Given the description of an element on the screen output the (x, y) to click on. 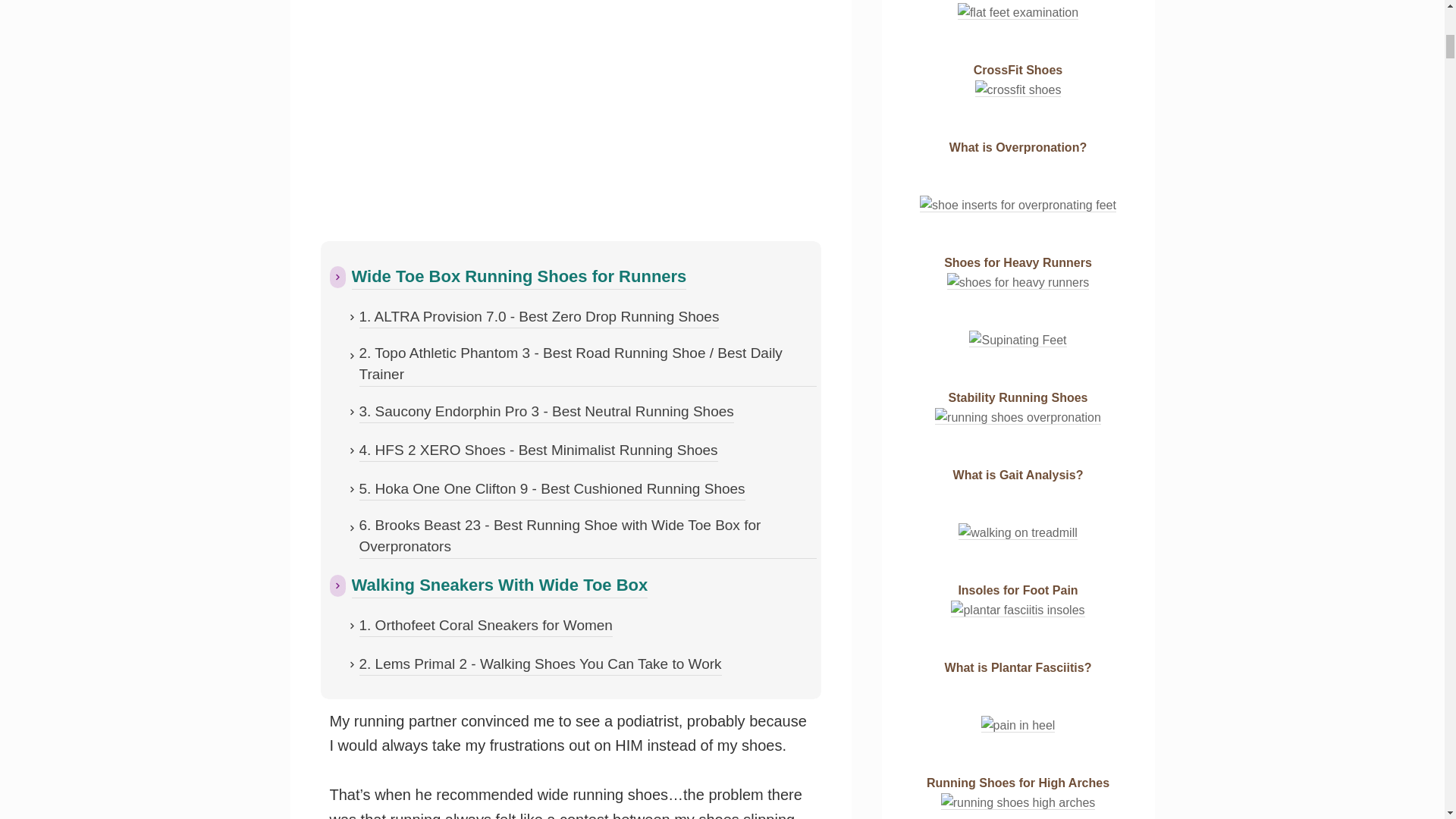
5. Hoka One One Clifton 9 - Best Cushioned Running Shoes (552, 489)
3. Saucony Endorphin Pro 3 - Best Neutral Running Shoes (546, 412)
Walking Sneakers With Wide Toe Box (499, 585)
1. Orthofeet Coral Sneakers for Women (485, 626)
Wide Toe Box Running Shoes for Runners (519, 276)
1. Orthofeet Coral Sneakers for Women (485, 626)
2. Lems Primal 2 - Walking Shoes You Can Take to Work (540, 664)
5. Hoka One One Clifton 9 - Best Cushioned Running Shoes (552, 489)
Shoes for Wide Feet (570, 115)
